Given the description of an element on the screen output the (x, y) to click on. 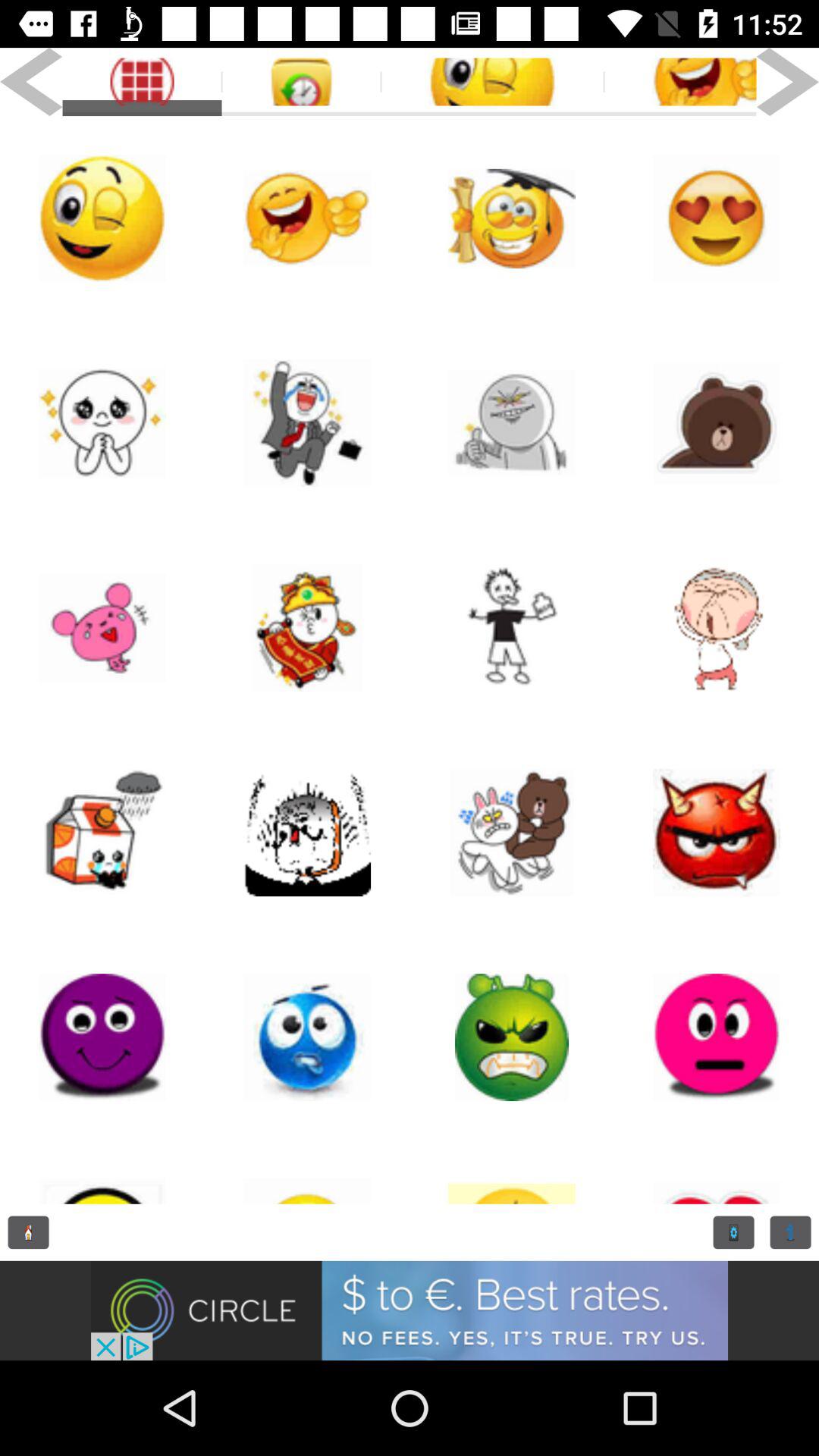
click to select the laughing smiley (680, 81)
